Given the description of an element on the screen output the (x, y) to click on. 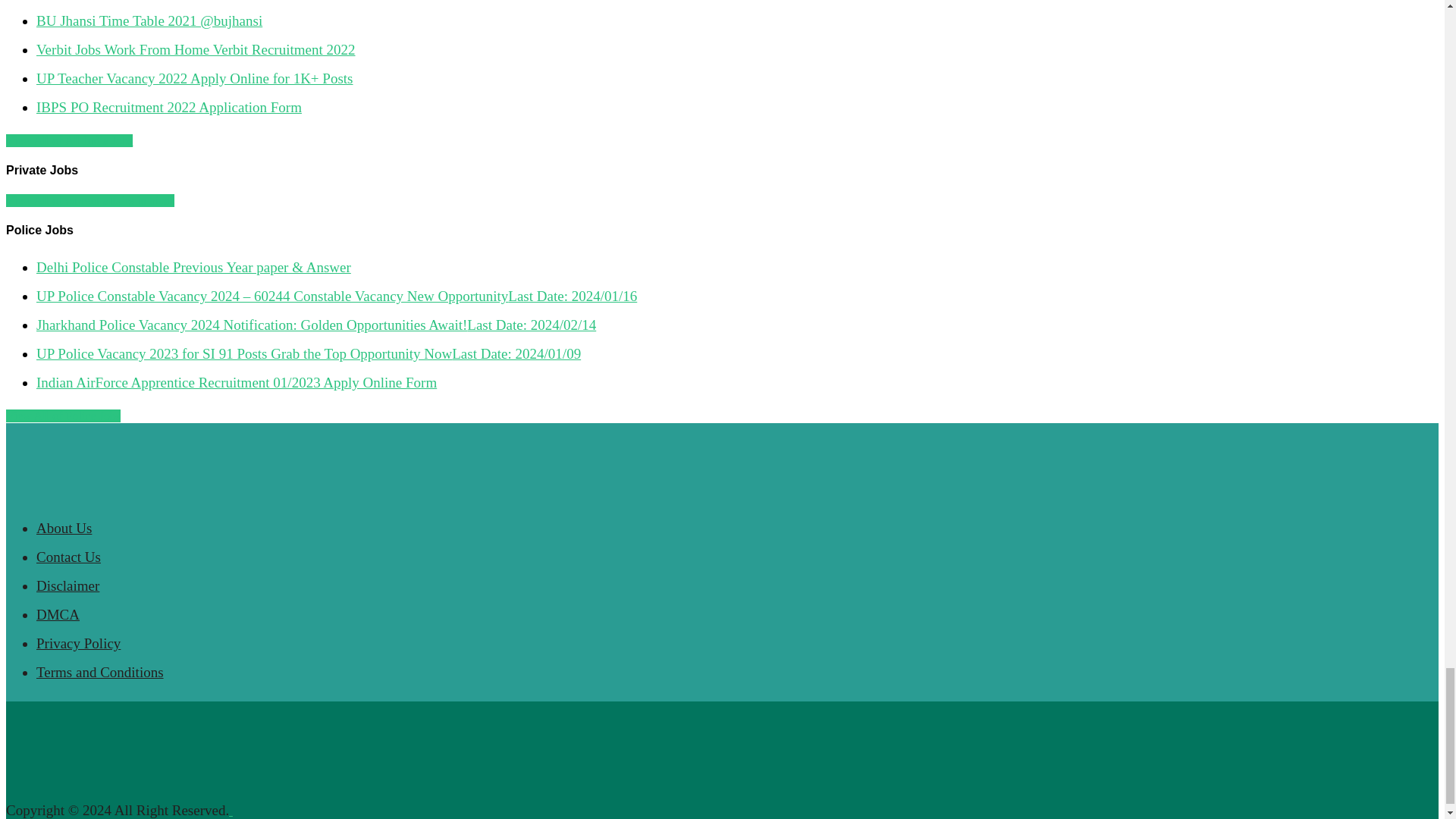
Category Name (68, 140)
Category Name (62, 415)
DMCA.com Protection Status (344, 810)
Category Name (89, 200)
